Given the description of an element on the screen output the (x, y) to click on. 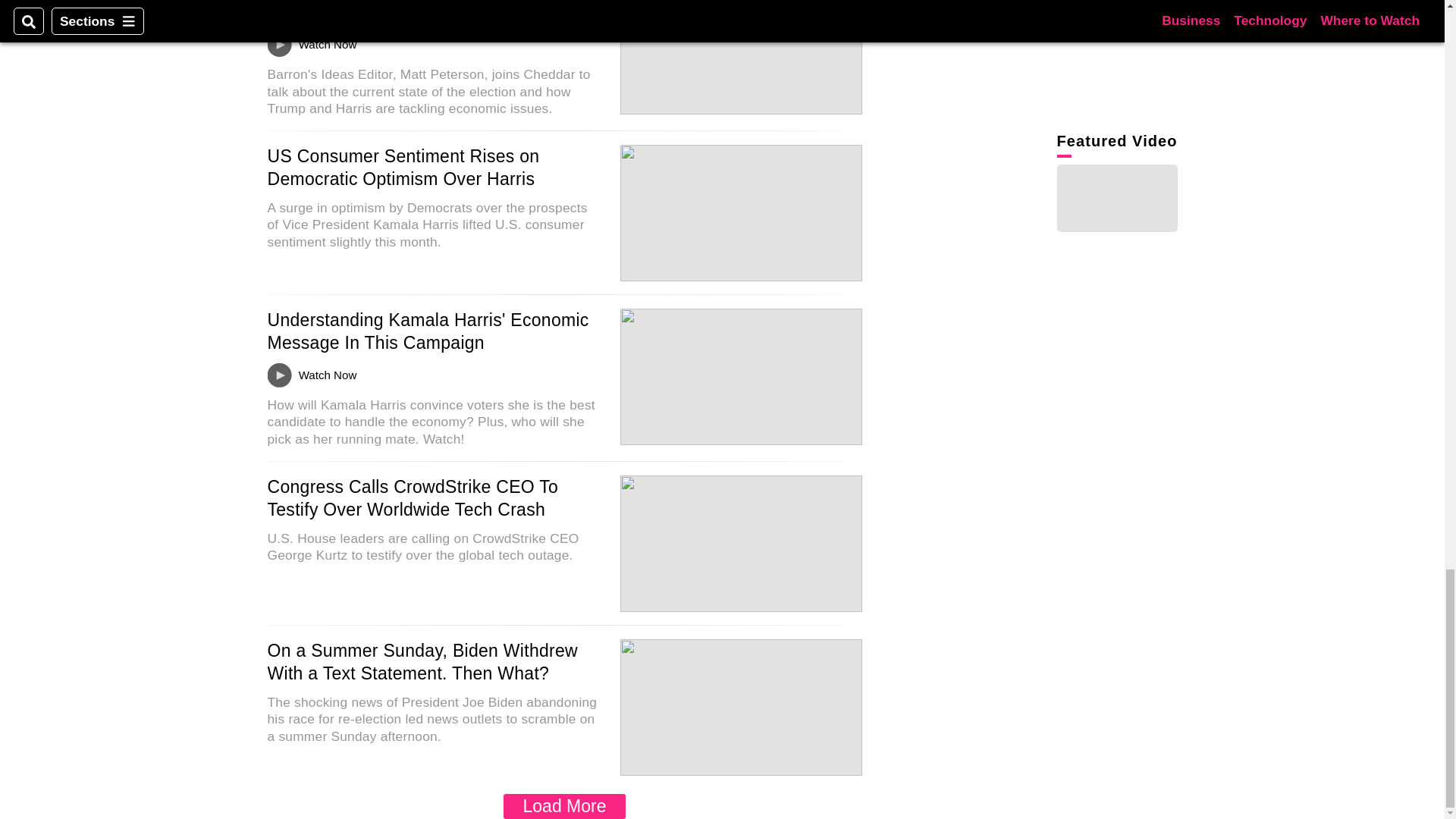
Can Democrats Keep The Energy Past This Week's DNC? (420, 11)
